Given the description of an element on the screen output the (x, y) to click on. 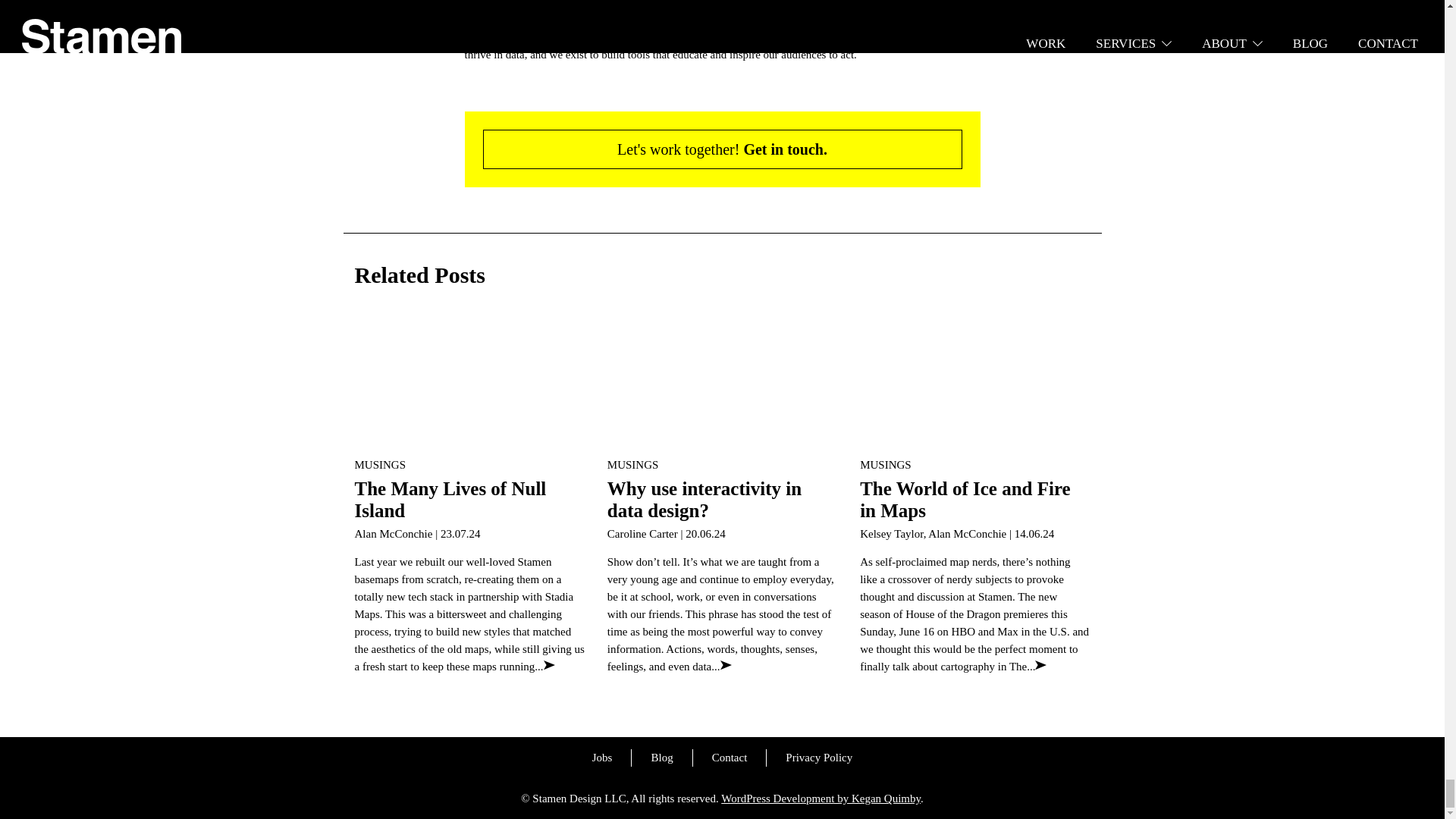
Posts by Kelsey Taylor (891, 533)
The World of Ice and Fire in Maps (965, 499)
Posts by Alan McConchie (967, 533)
The Many Lives of Null Island (451, 499)
Posts by Alan McConchie (393, 533)
Why use interactivity in data design? (704, 499)
Why use interactivity in data design? (722, 382)
The Many Lives of Null Island (470, 382)
Posts by Caroline Carter (642, 533)
The World of Ice and Fire in Maps (974, 382)
